Given the description of an element on the screen output the (x, y) to click on. 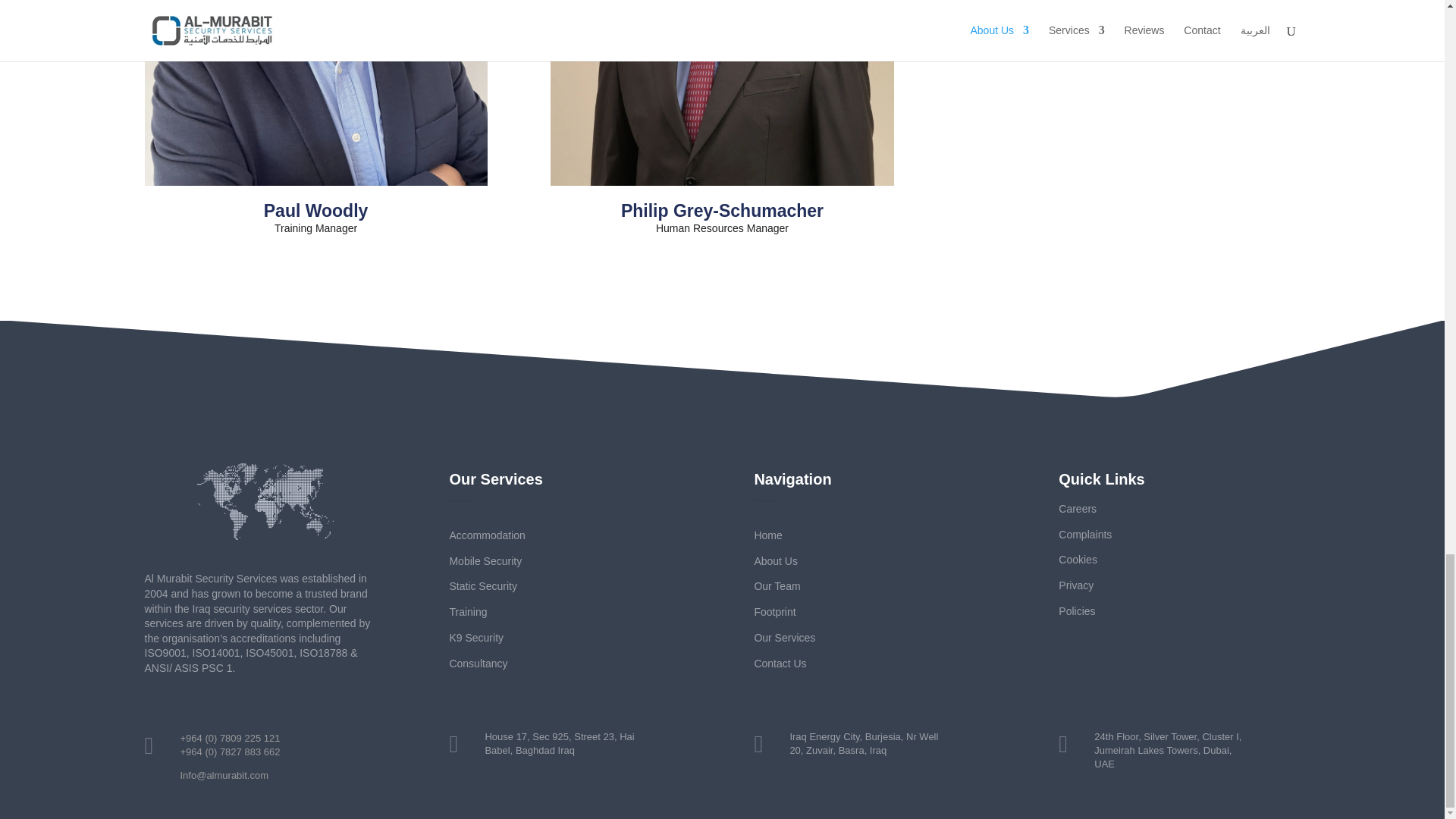
world-map (264, 501)
